Given the description of an element on the screen output the (x, y) to click on. 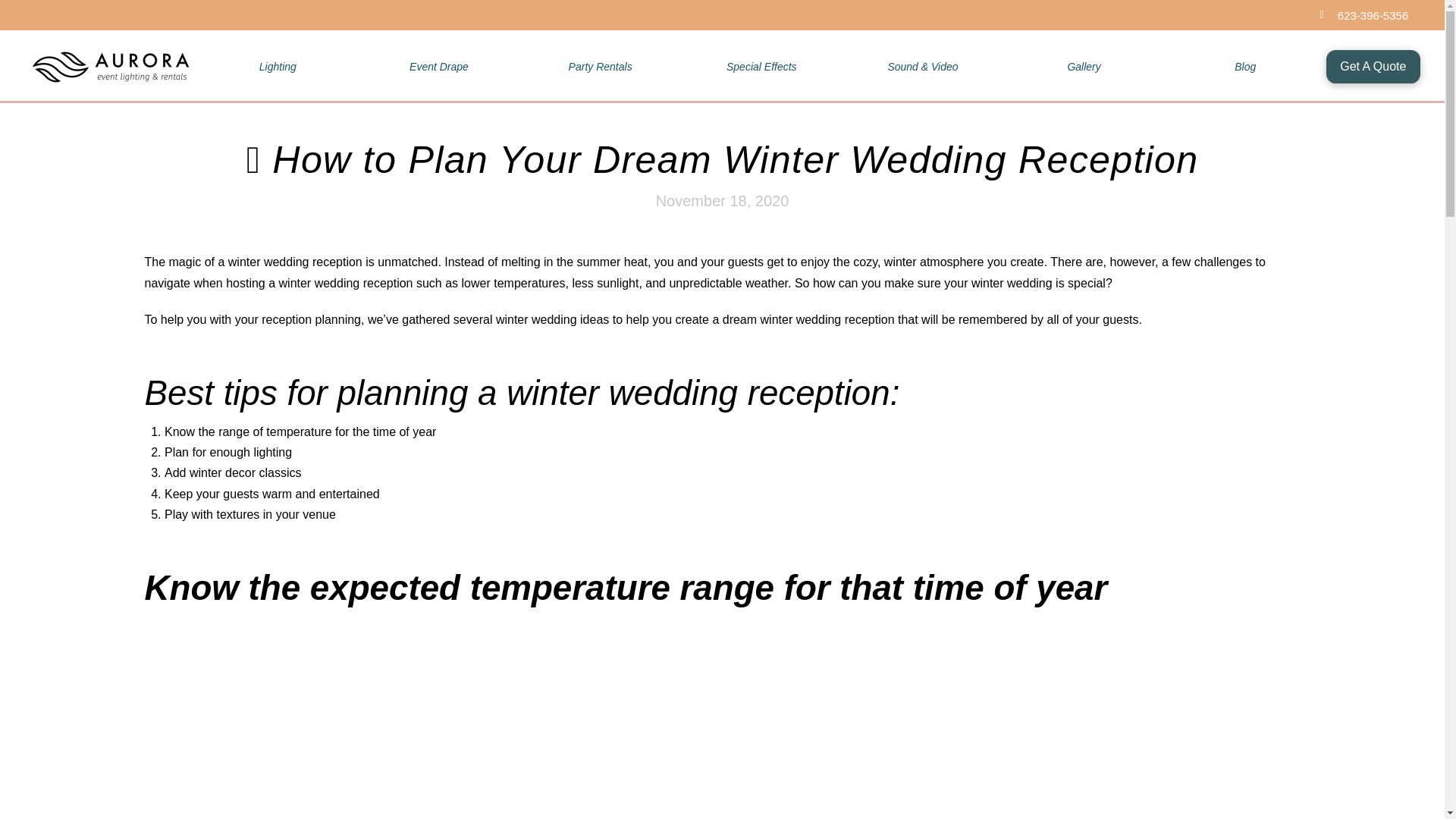
Lighting (277, 66)
Party Rentals (600, 66)
623-396-5356 (1372, 15)
Special Effects (762, 66)
Event Drape (438, 66)
